Given the description of an element on the screen output the (x, y) to click on. 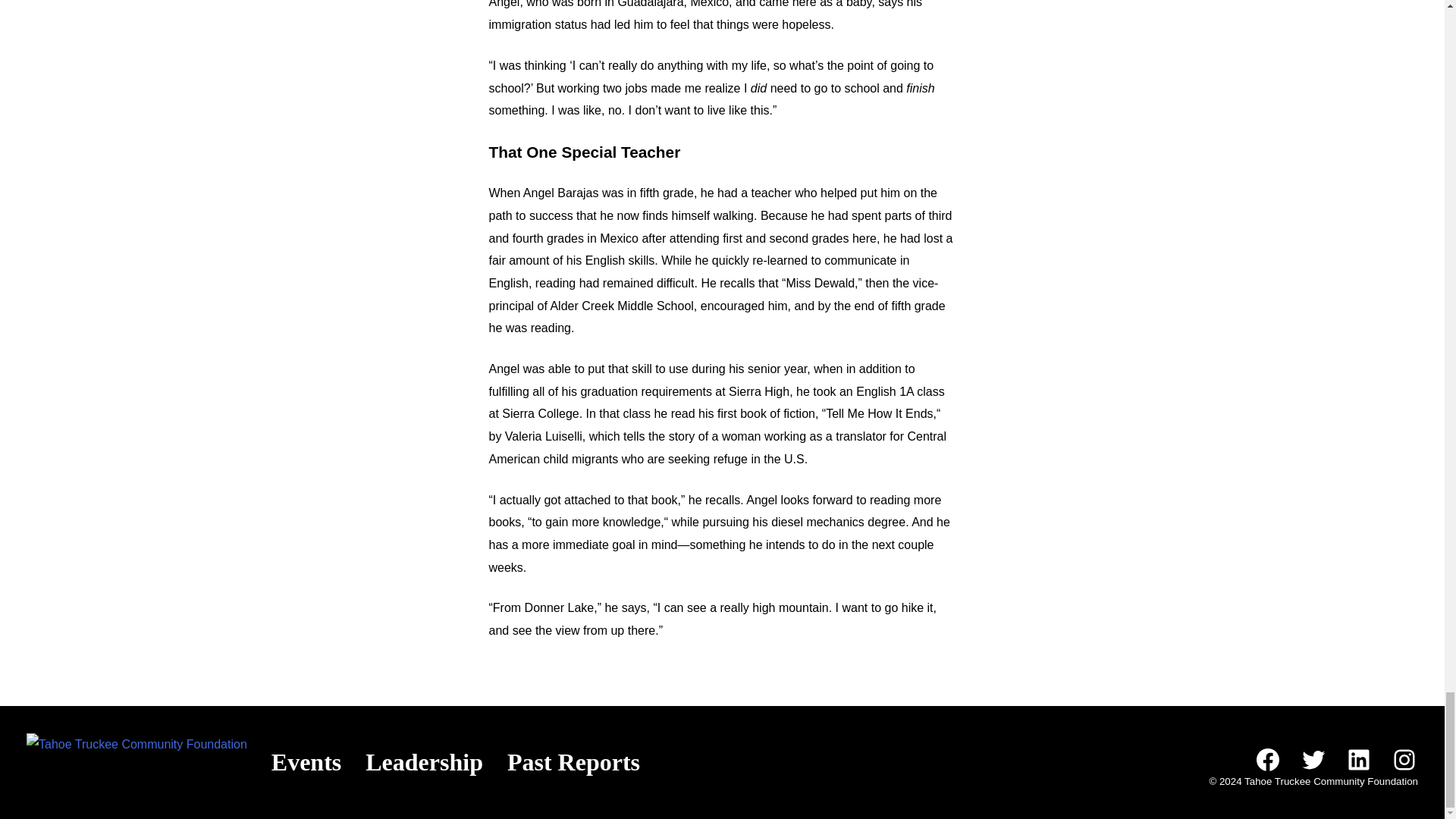
Leadership (424, 761)
Facebook (1267, 759)
Instagram (1404, 759)
LinkedIn (1359, 759)
Twitter (1313, 759)
Past Reports (573, 761)
Events (305, 761)
